Given the description of an element on the screen output the (x, y) to click on. 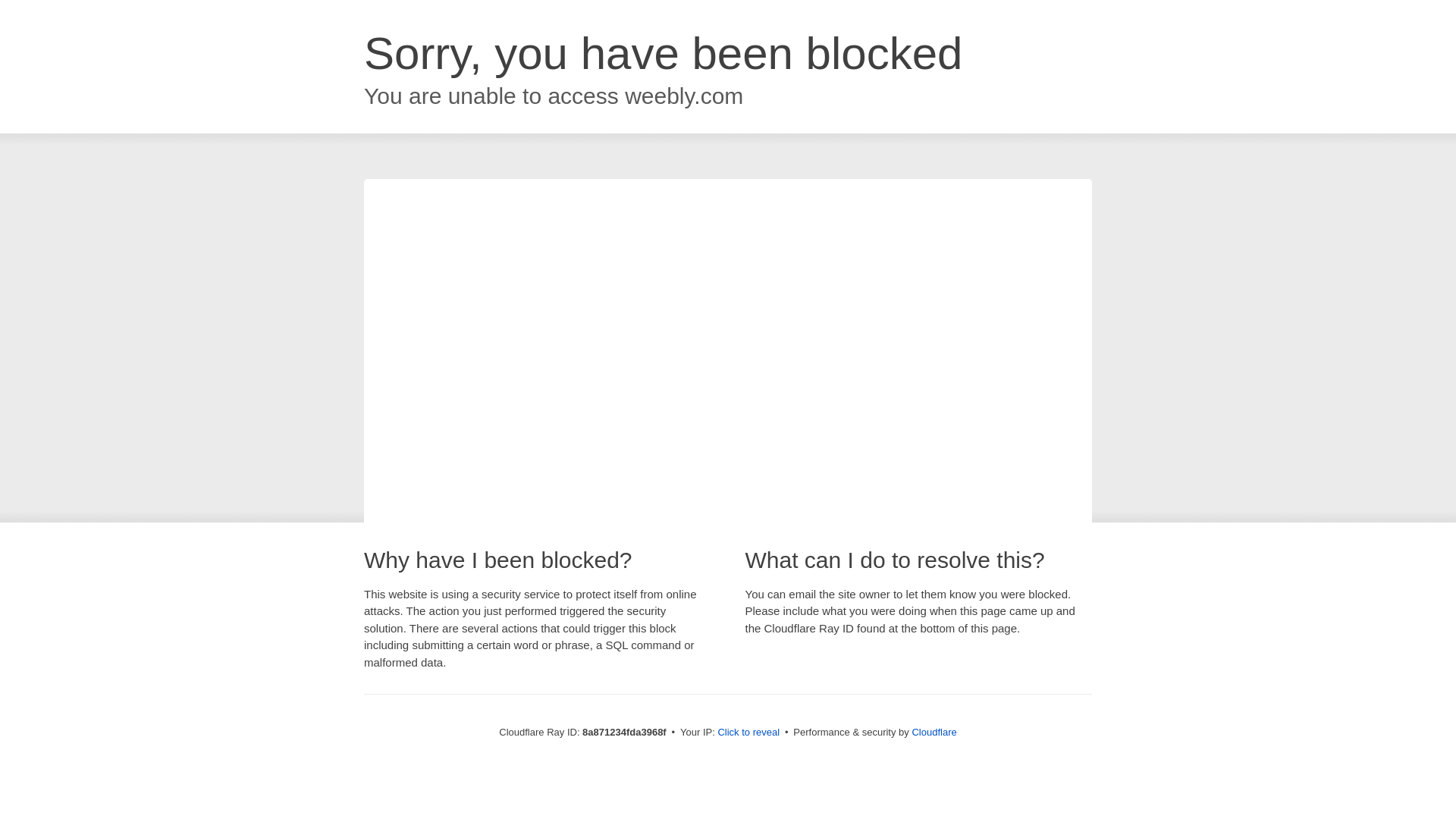
Cloudflare (933, 731)
Click to reveal (747, 732)
